Given the description of an element on the screen output the (x, y) to click on. 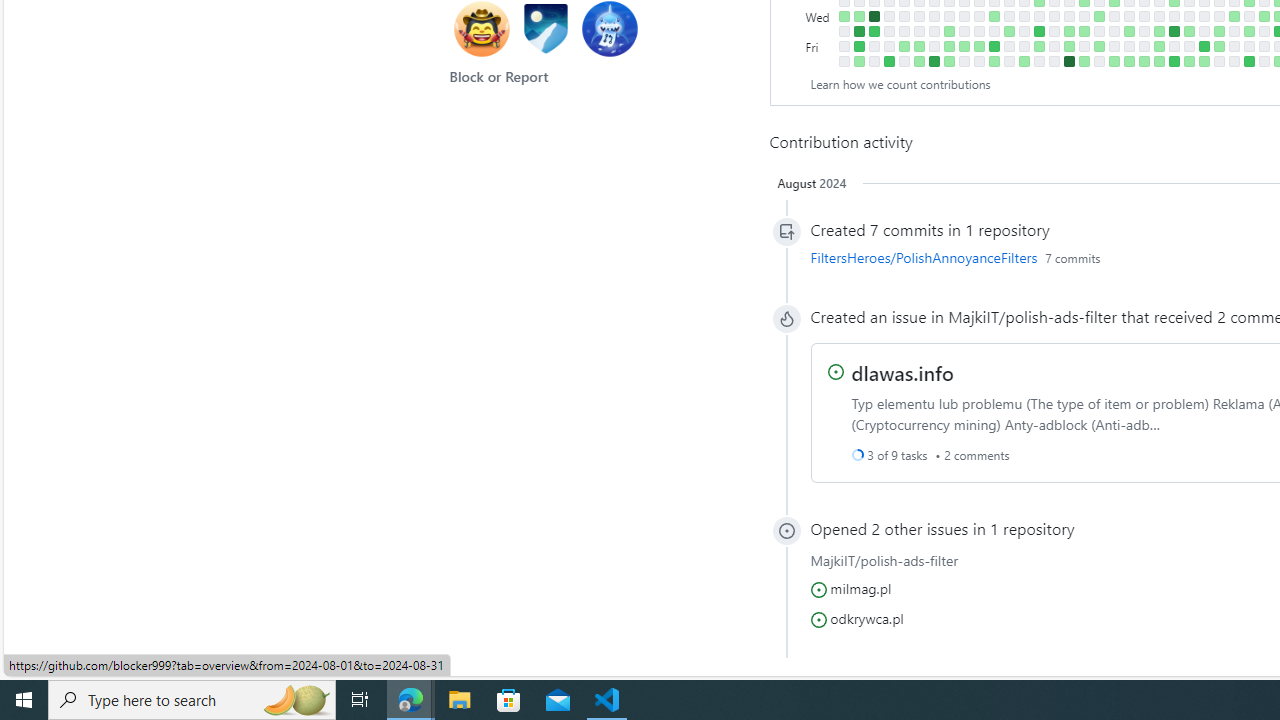
No contributions on February 16th. (933, 46)
3 contributions on March 16th. (993, 61)
No contributions on January 20th. (873, 61)
No contributions on February 28th. (963, 16)
6 contributions on June 8th. (1173, 61)
No contributions on May 15th. (1128, 16)
Wednesday (819, 16)
No contributions on February 15th. (933, 30)
No contributions on March 6th. (978, 16)
No contributions on March 7th. (978, 30)
Saturday (819, 61)
No contributions on February 3rd. (904, 61)
2 contributions on January 3rd. (843, 16)
No contributions on March 9th. (978, 61)
3 contributions on June 27th. (1218, 30)
